Given the description of an element on the screen output the (x, y) to click on. 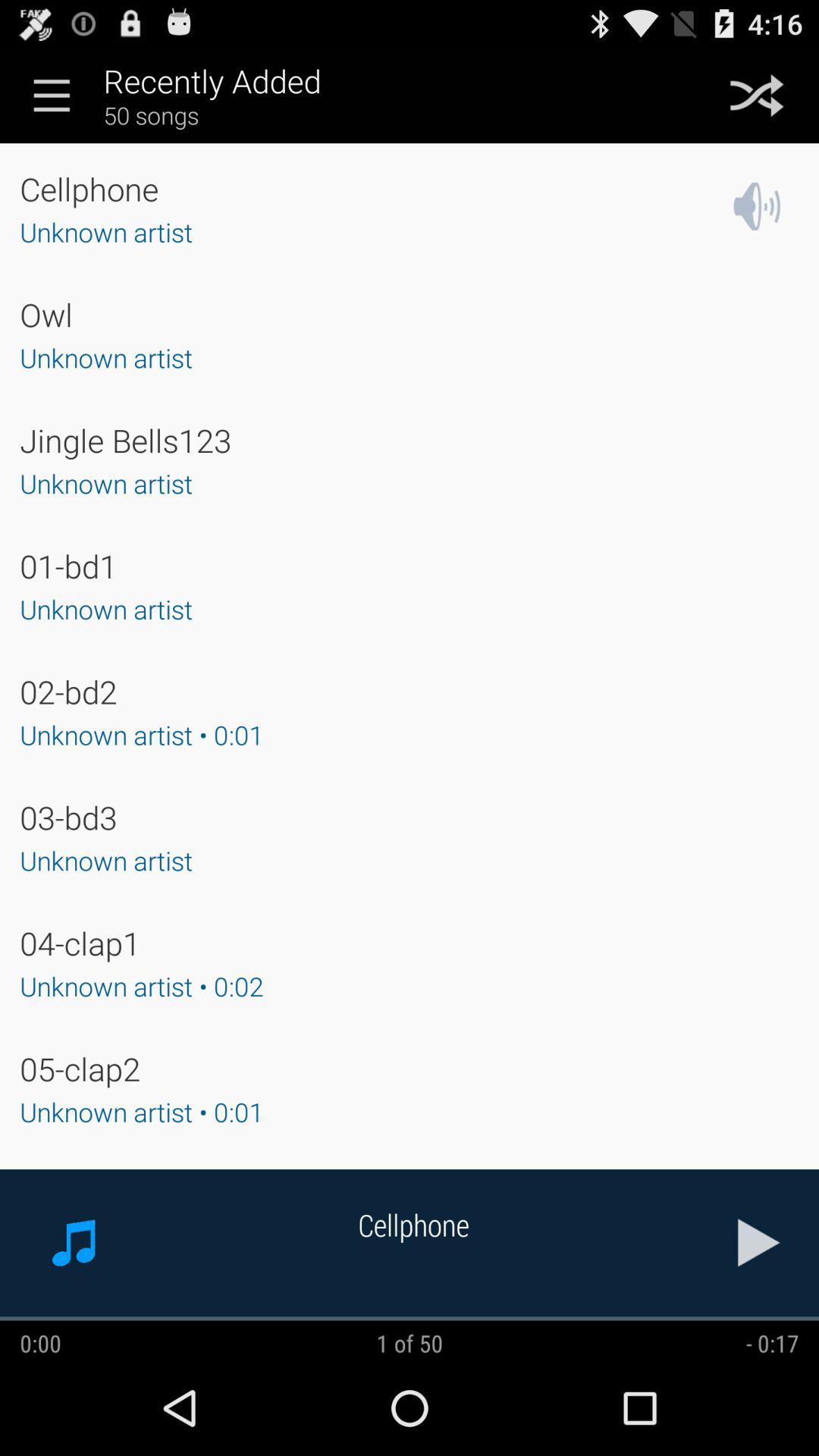
click app above cellphone item (51, 95)
